Given the description of an element on the screen output the (x, y) to click on. 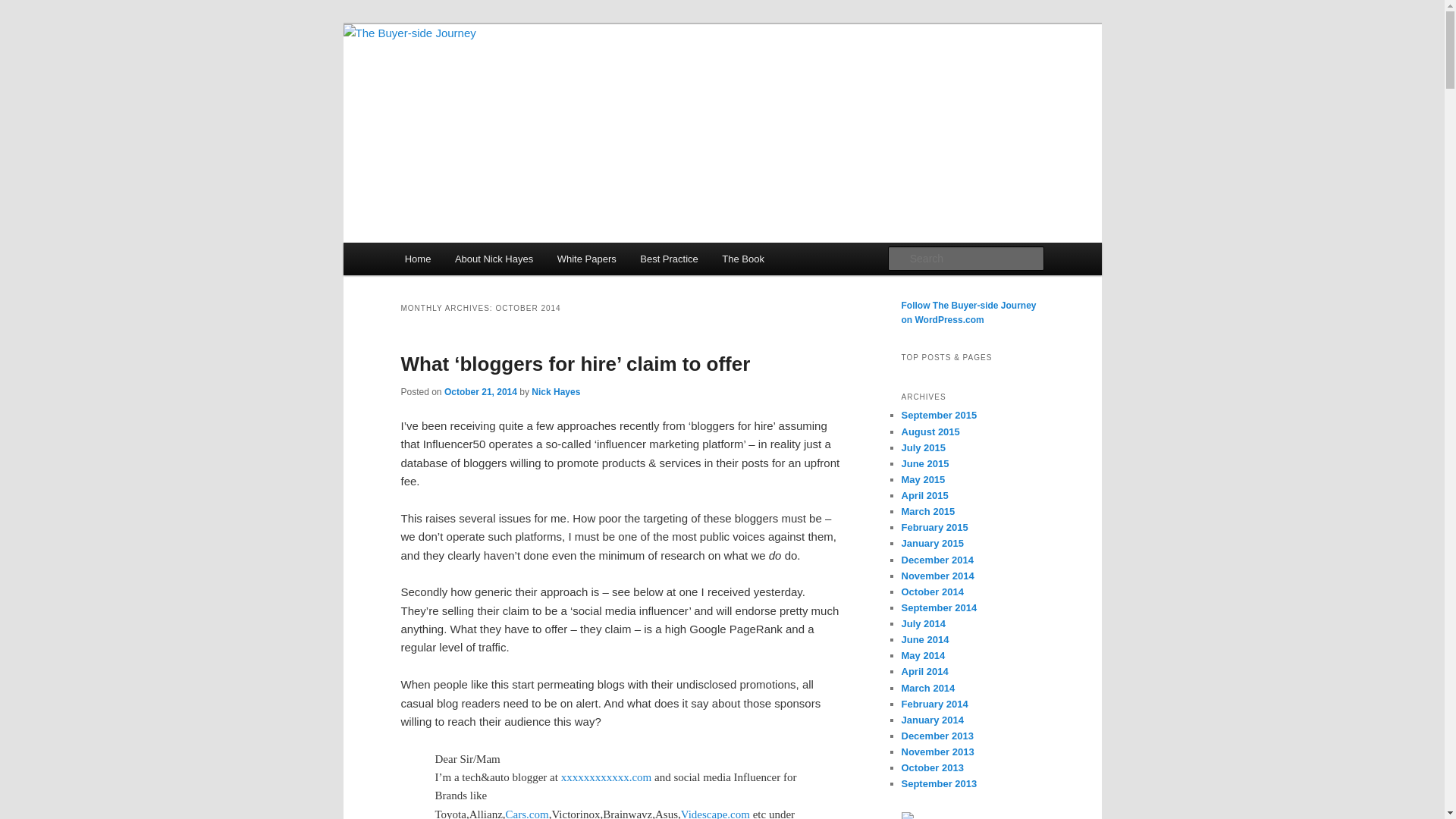
October 21, 2014 (480, 391)
The Book (743, 258)
White Papers (586, 258)
Videscape.com (715, 813)
Home (417, 258)
Best Practice (668, 258)
View all posts by Nick Hayes (555, 391)
Cars.com (526, 813)
Search (24, 8)
